Given the description of an element on the screen output the (x, y) to click on. 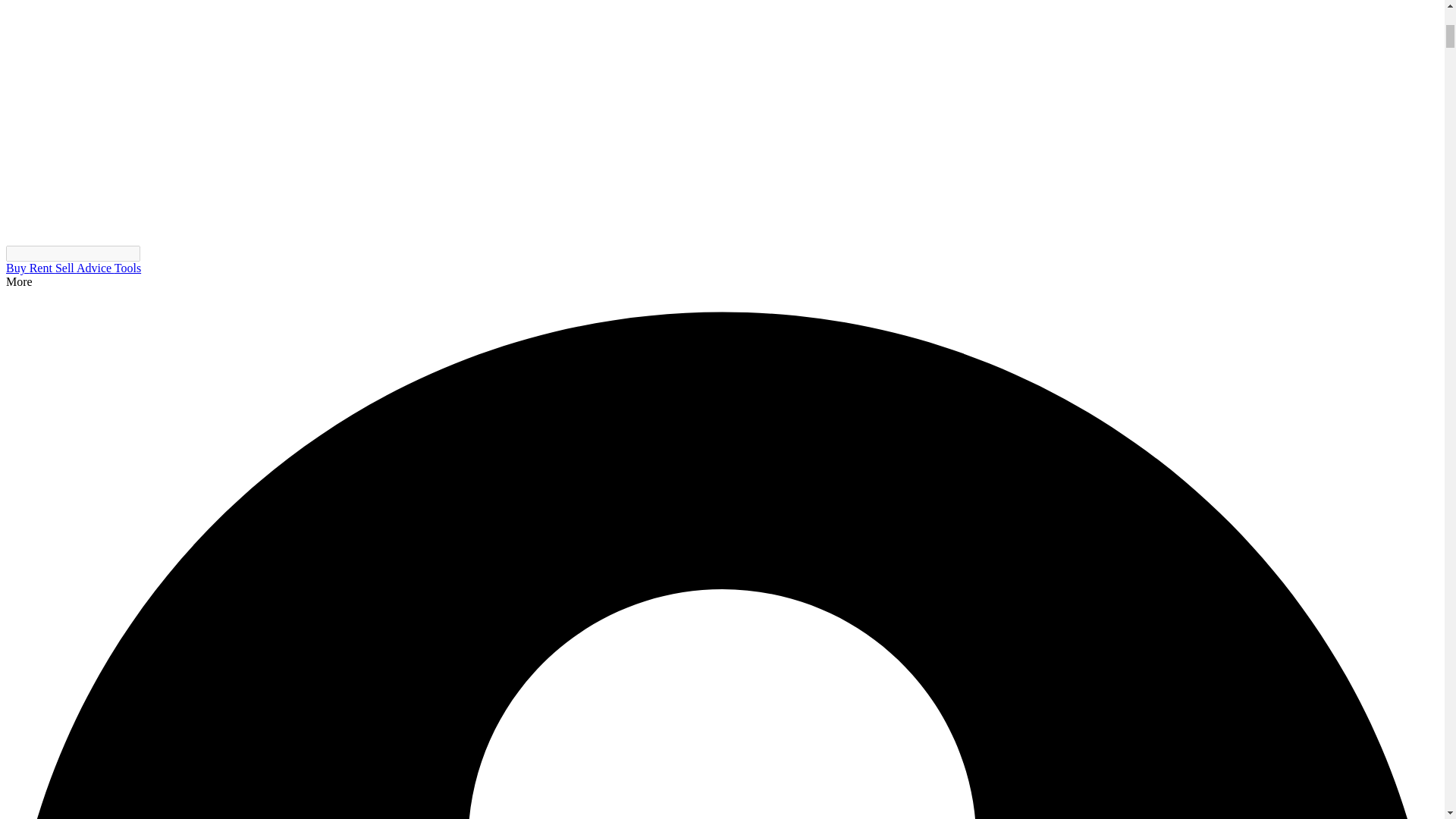
Tools (128, 267)
Buy (17, 267)
Rent (42, 267)
Advice (96, 267)
Sell (66, 267)
